Given the description of an element on the screen output the (x, y) to click on. 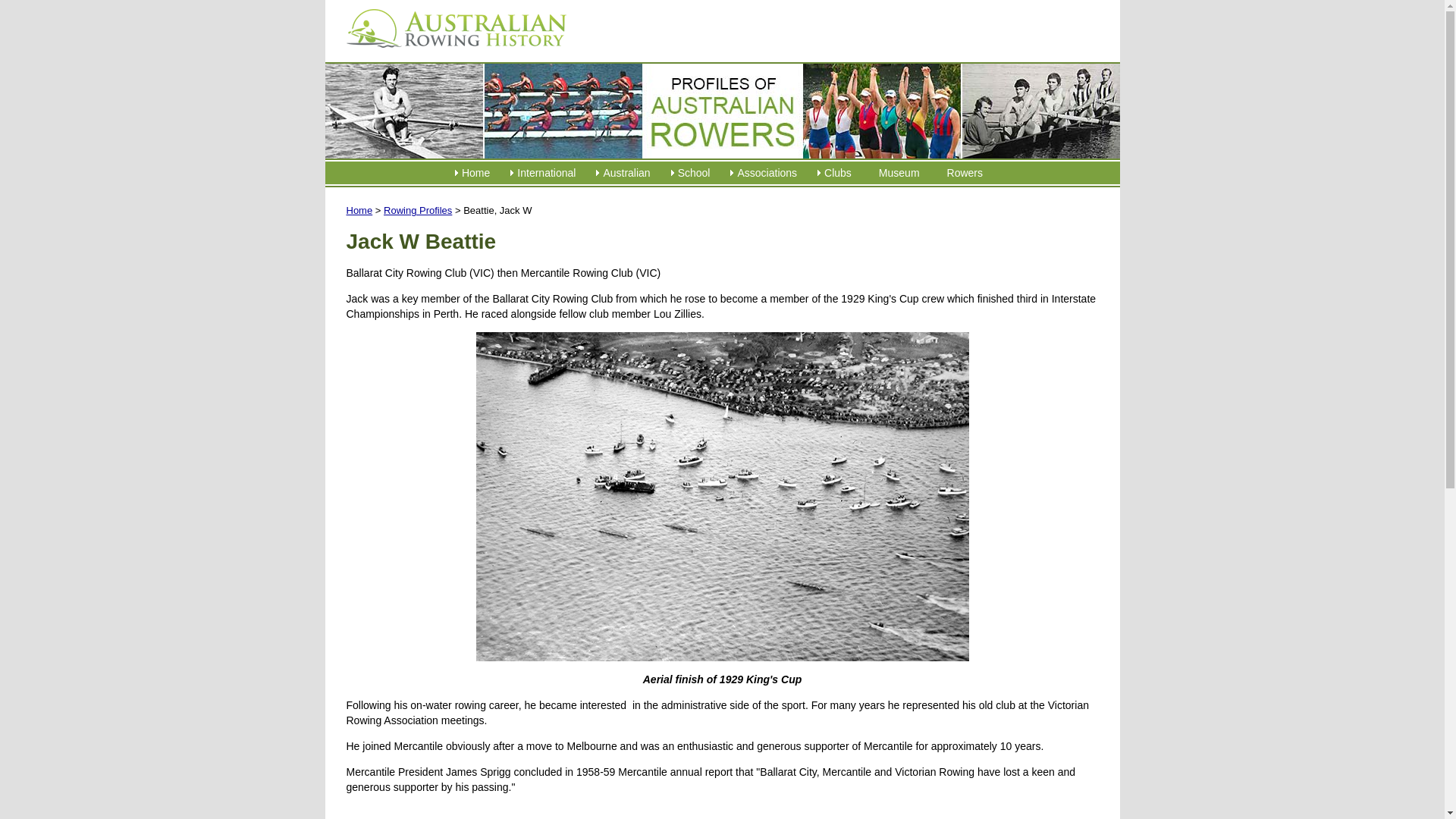
Rowing History Australia (456, 28)
International (546, 172)
Australian (626, 172)
School (693, 172)
Profiles of Australian Rowers (417, 210)
Rowing History Australia (449, 52)
Australian Rowing History (359, 210)
Home (475, 172)
